Given the description of an element on the screen output the (x, y) to click on. 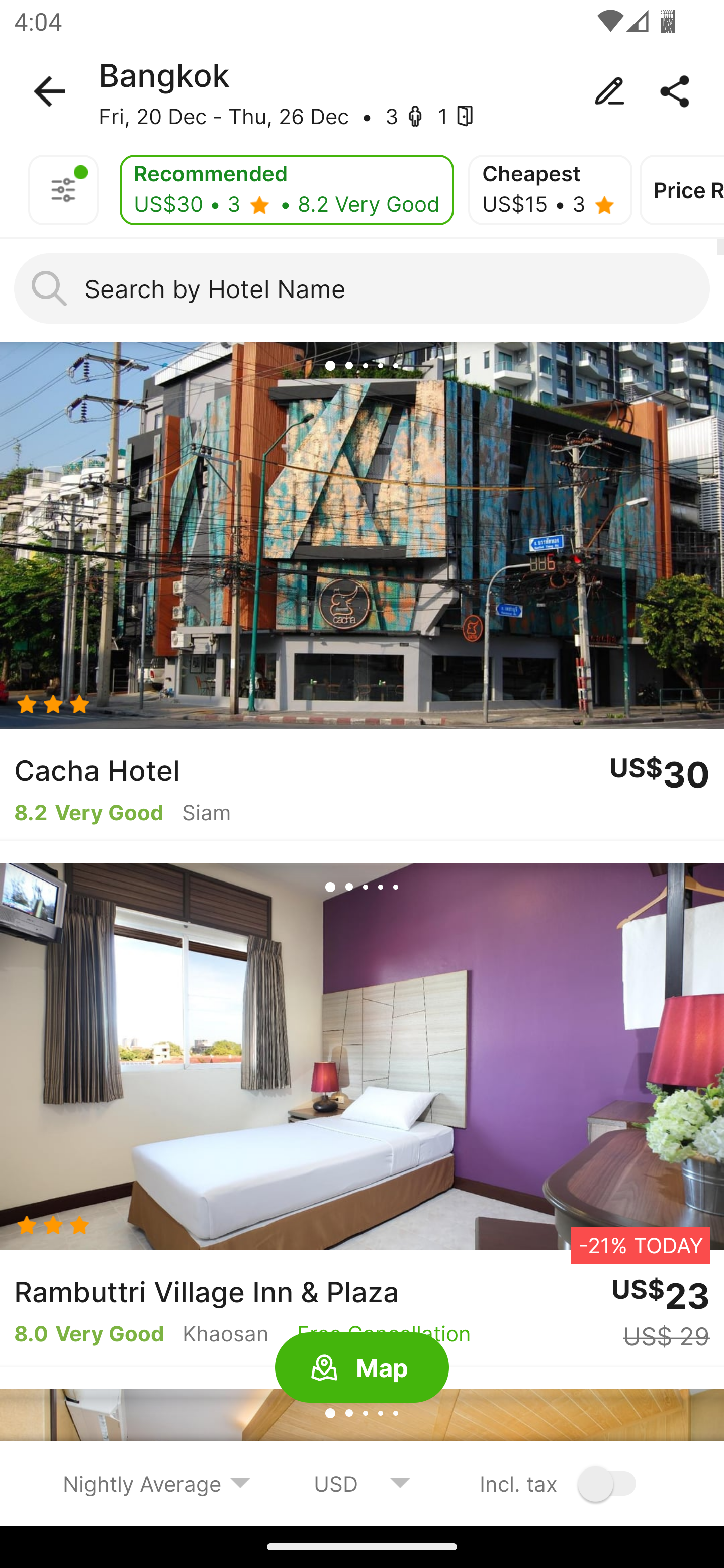
Bangkok Fri, 20 Dec - Thu, 26 Dec  •  3 -  1 - (361, 91)
Recommended  US$30  • 3 - • 8.2 Very Good (286, 190)
Cheapest US$15  • 3 - (550, 190)
Search by Hotel Name  (361, 288)
10.0 Cacha Hotel 8.2 Very Good Siam (362, 590)
Map  (361, 1367)
Nightly Average (156, 1482)
USD (361, 1482)
